Given the description of an element on the screen output the (x, y) to click on. 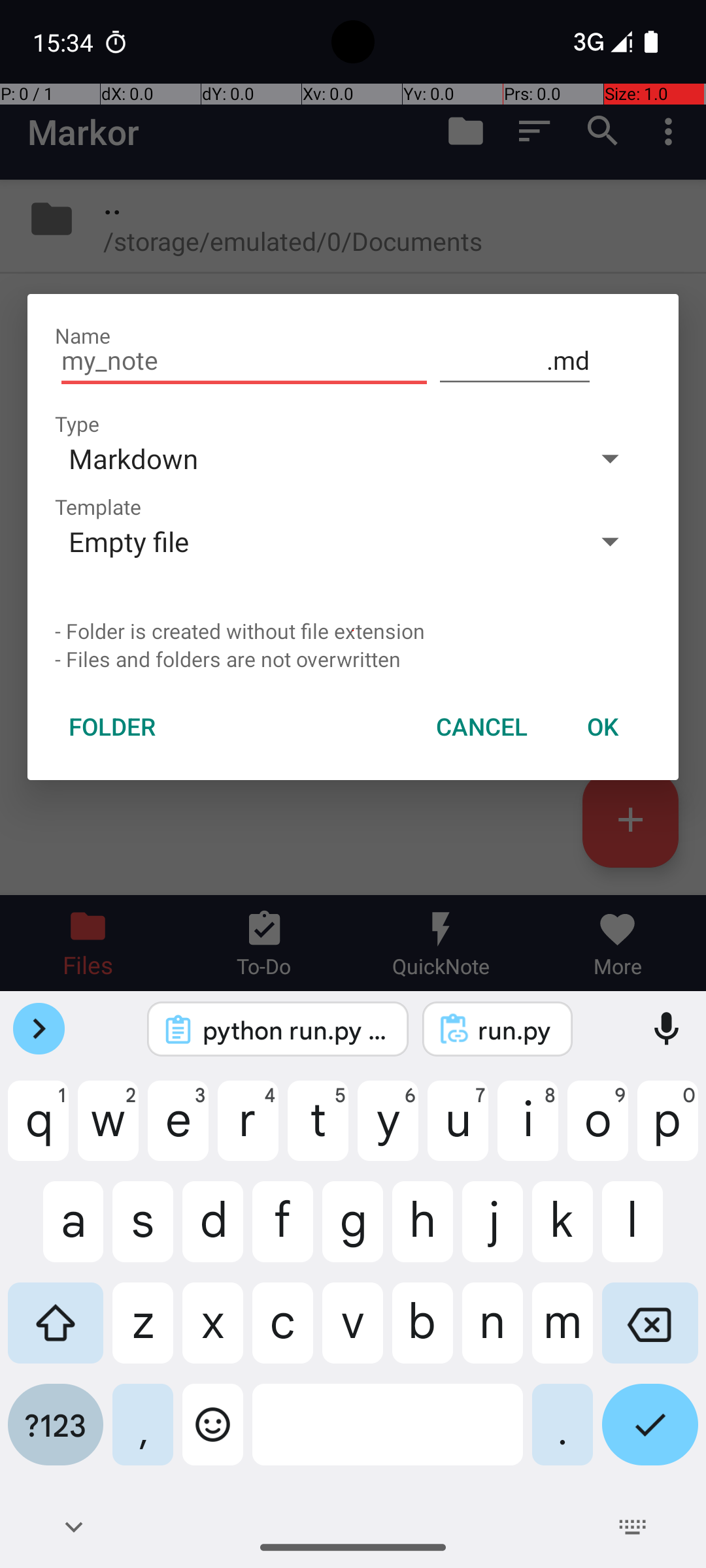
python run.py \   --suite_family=android_world \   --agent_name=t3a_gpt4 \   --perform_emulator_setup \   --tasks=ContactsAddContact,ClockStopWatchRunning \  # Optional: Just run on a subset. Element type: android.widget.TextView (294, 1029)
run.py Element type: android.widget.TextView (514, 1029)
